Given the description of an element on the screen output the (x, y) to click on. 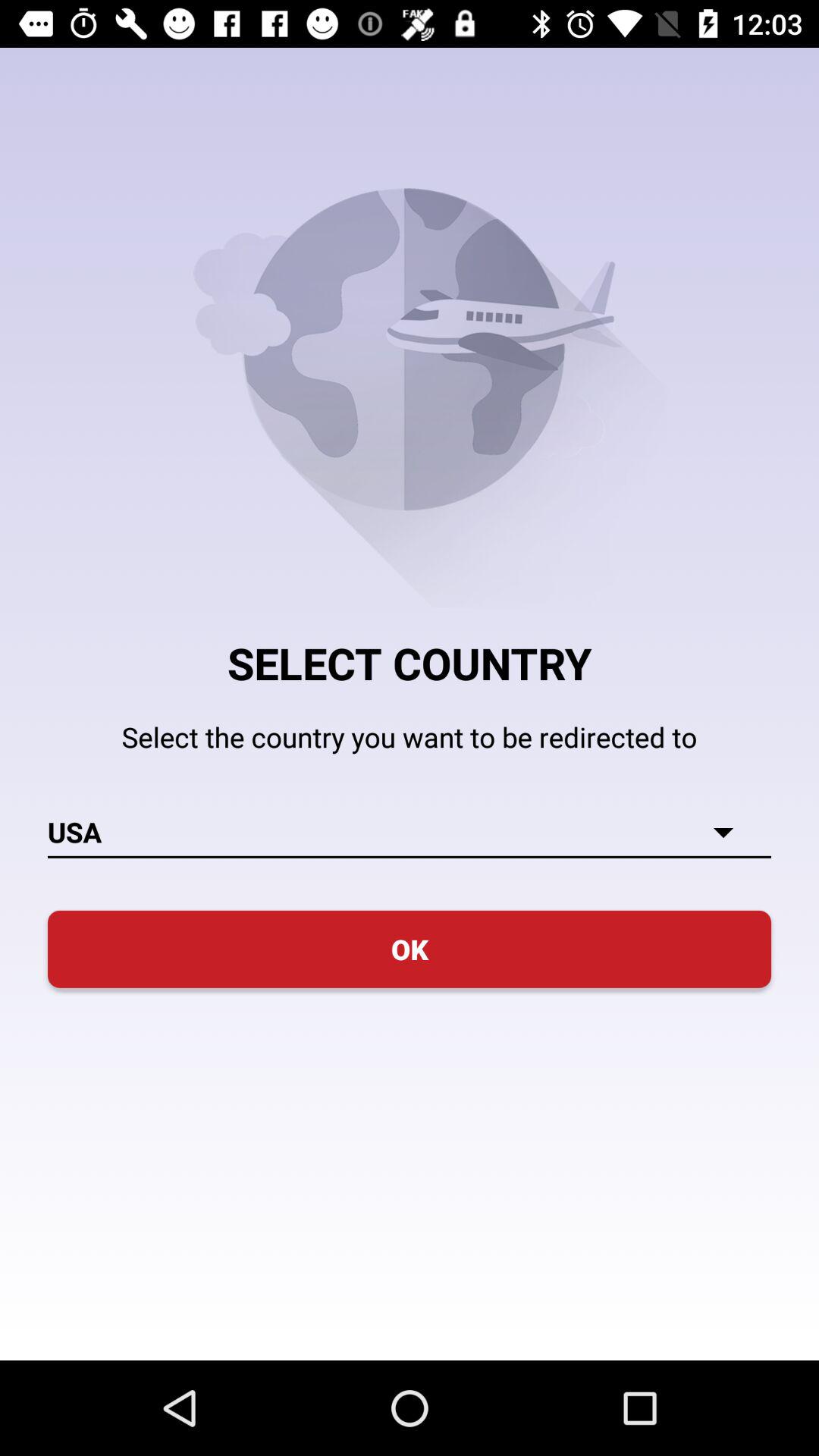
swipe to ok (409, 948)
